Given the description of an element on the screen output the (x, y) to click on. 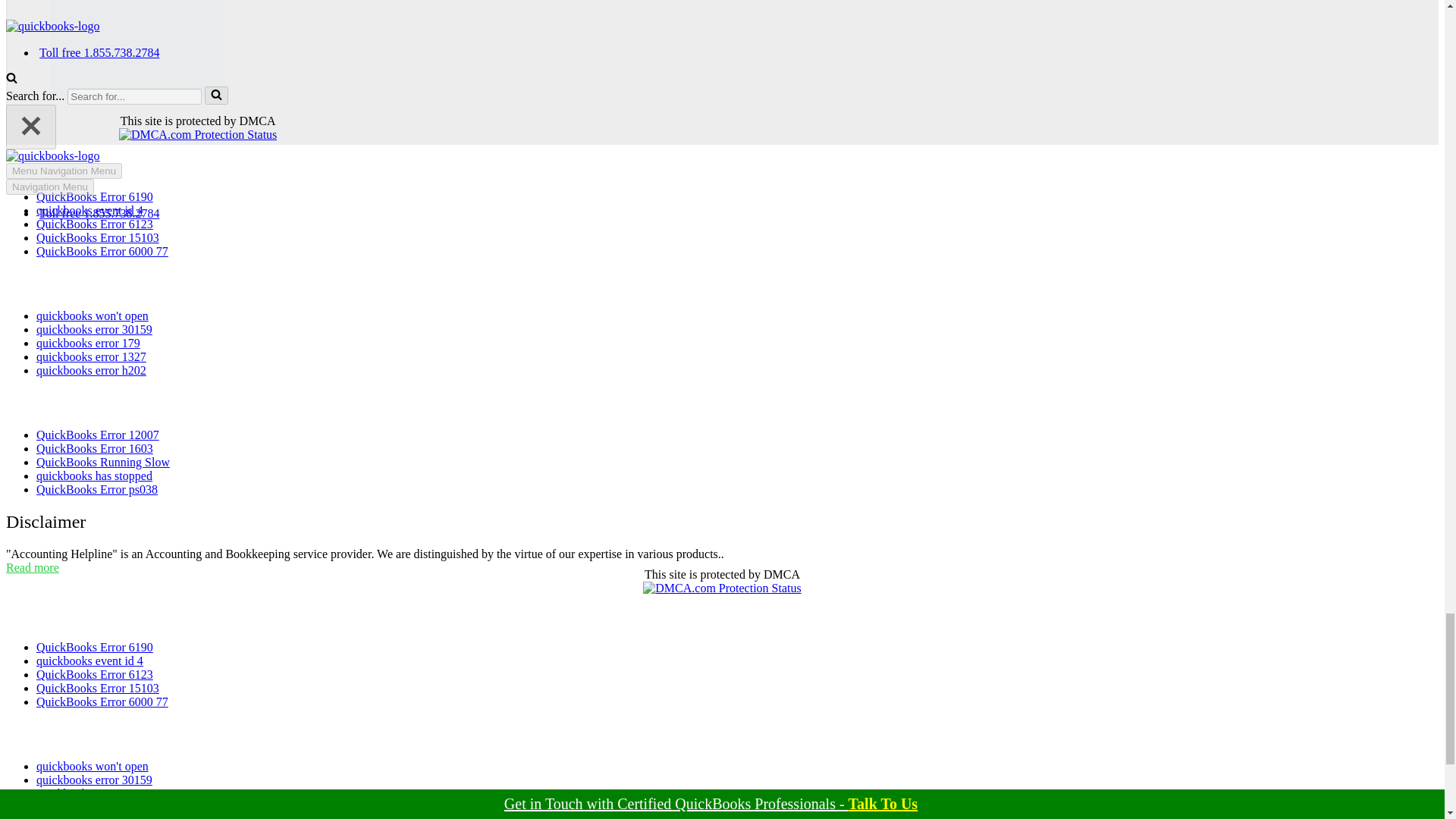
quickbooks error 1327 (91, 356)
quickbooks won't open (92, 315)
DMCA.com Protection Status (721, 587)
quickbooks error 179 (87, 342)
QuickBooks Error 6123 (94, 223)
quickbooks error h202 (91, 369)
QuickBooks Error 12007 (97, 434)
QuickBooks Error 15103 (97, 237)
DMCA.com Protection Status (197, 133)
QuickBooks Error 6000 77 (102, 250)
